Given the description of an element on the screen output the (x, y) to click on. 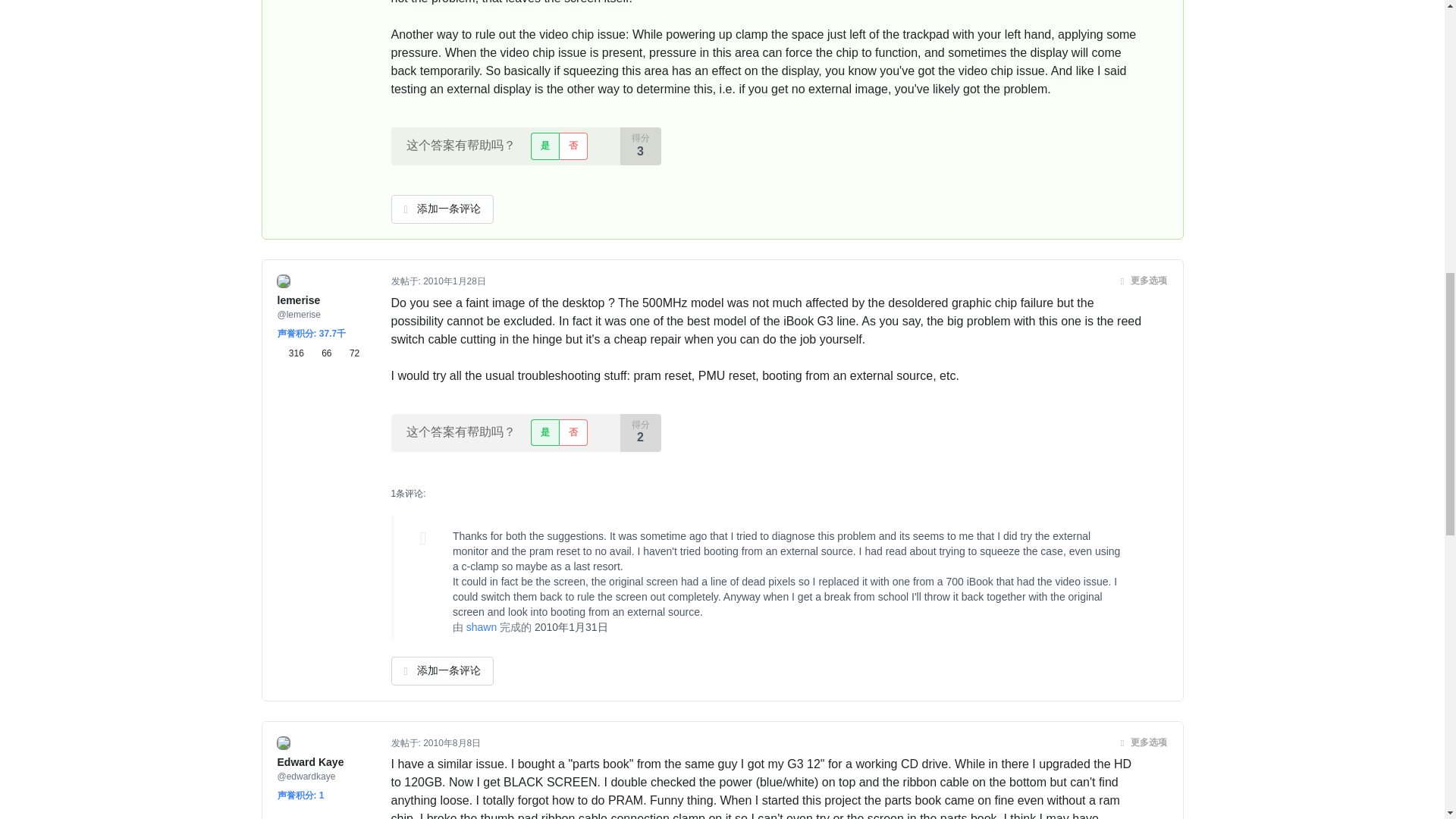
Thu, 28 Jan 2010 22:47:50 -0700 (454, 281)
Sun, 31 Jan 2010 14:27:45 -0700 (571, 626)
Sun, 08 Aug 2010 16:42:53 -0700 (451, 742)
